Given the description of an element on the screen output the (x, y) to click on. 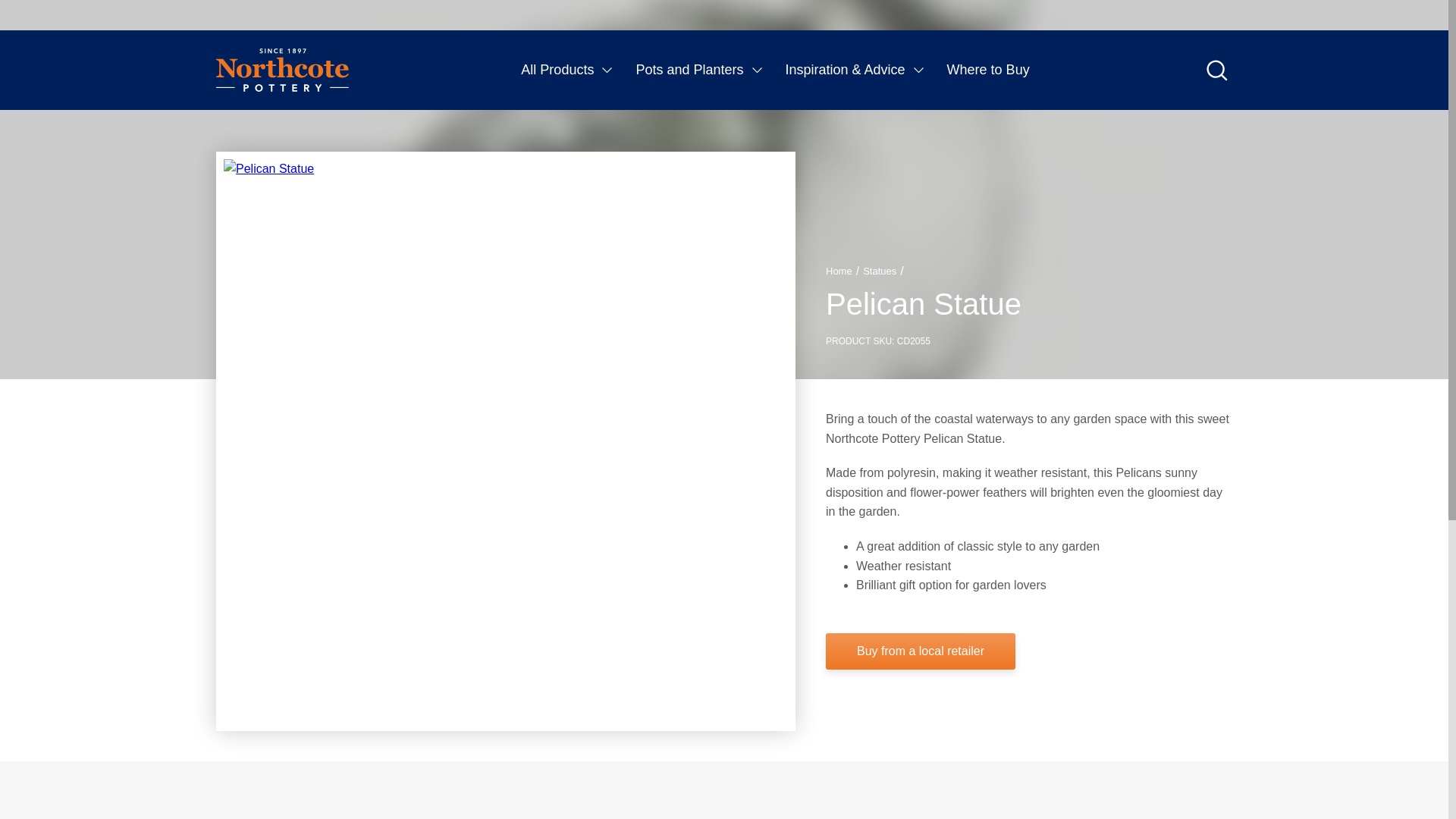
Home (838, 271)
Statues (879, 271)
All Products (566, 69)
Pots and Planters (697, 69)
Where to Buy (988, 69)
